Given the description of an element on the screen output the (x, y) to click on. 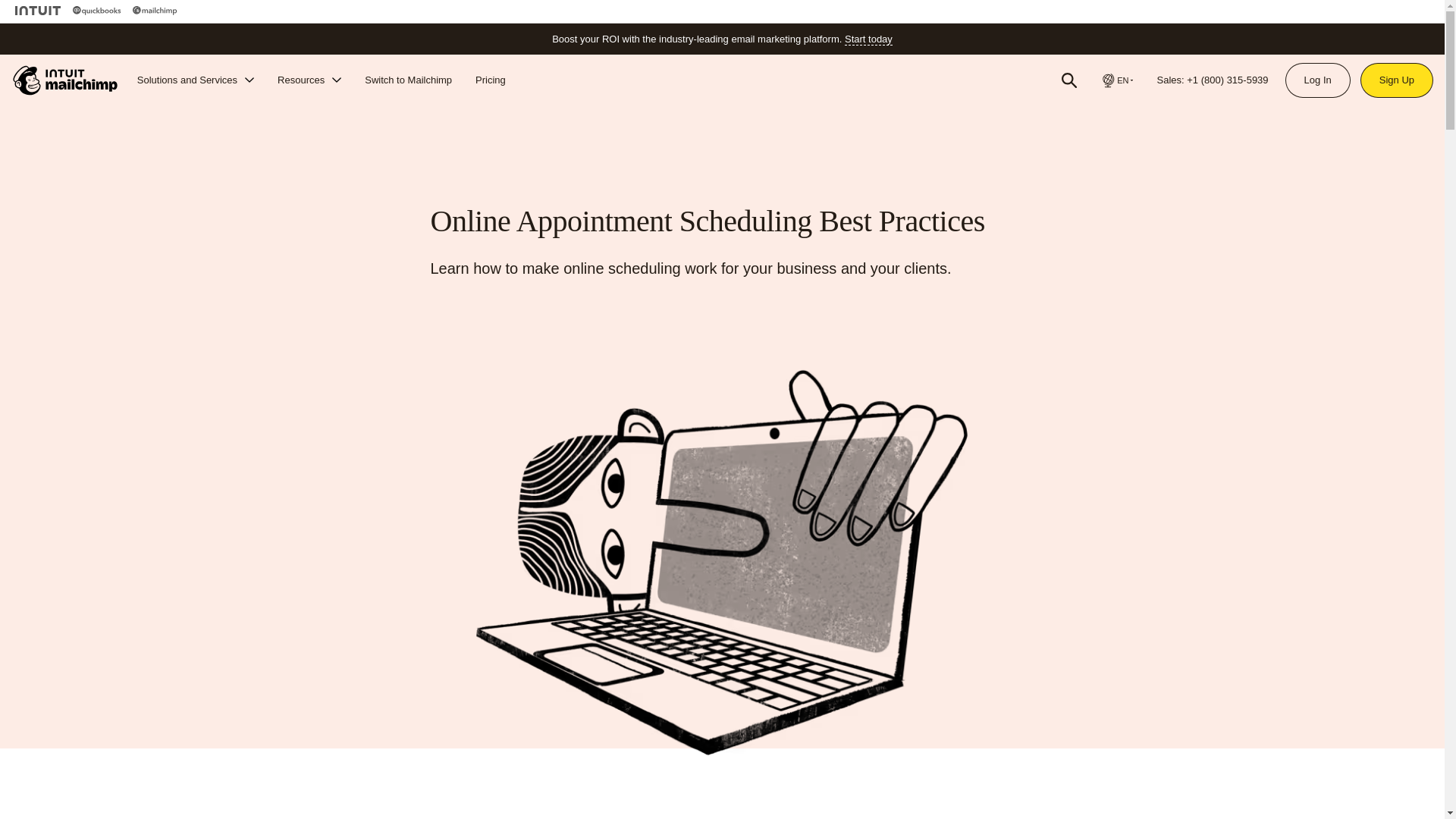
Pricing (490, 79)
Log In (1317, 80)
Sign Up (1396, 80)
Resources (308, 79)
Search (1069, 80)
Switch to Mailchimp (408, 79)
Start today (868, 39)
Solutions and Services (195, 79)
